Given the description of an element on the screen output the (x, y) to click on. 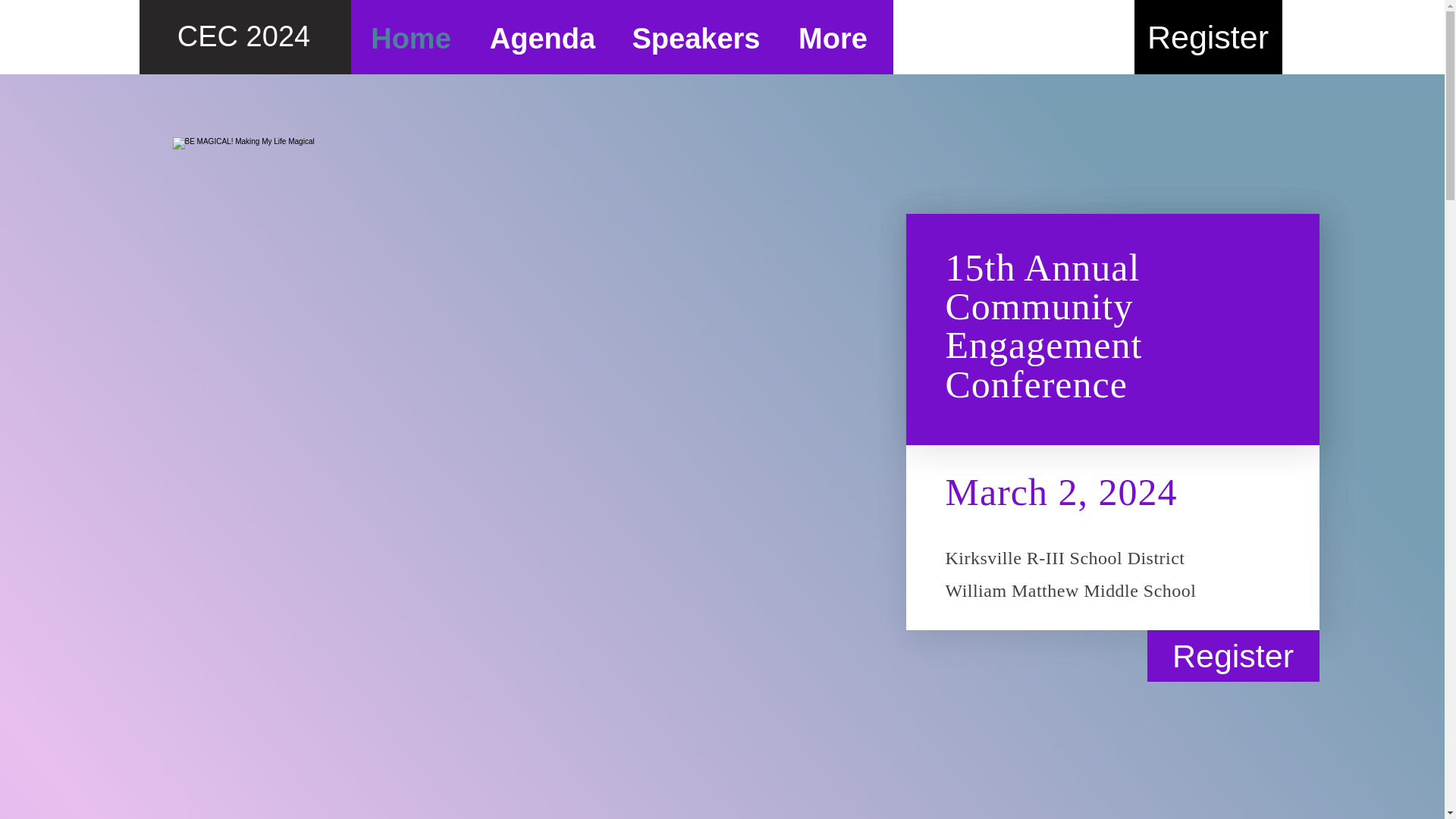
Home (410, 37)
Register (1208, 37)
Agenda (542, 37)
Register (1233, 655)
Speakers (696, 37)
